Given the description of an element on the screen output the (x, y) to click on. 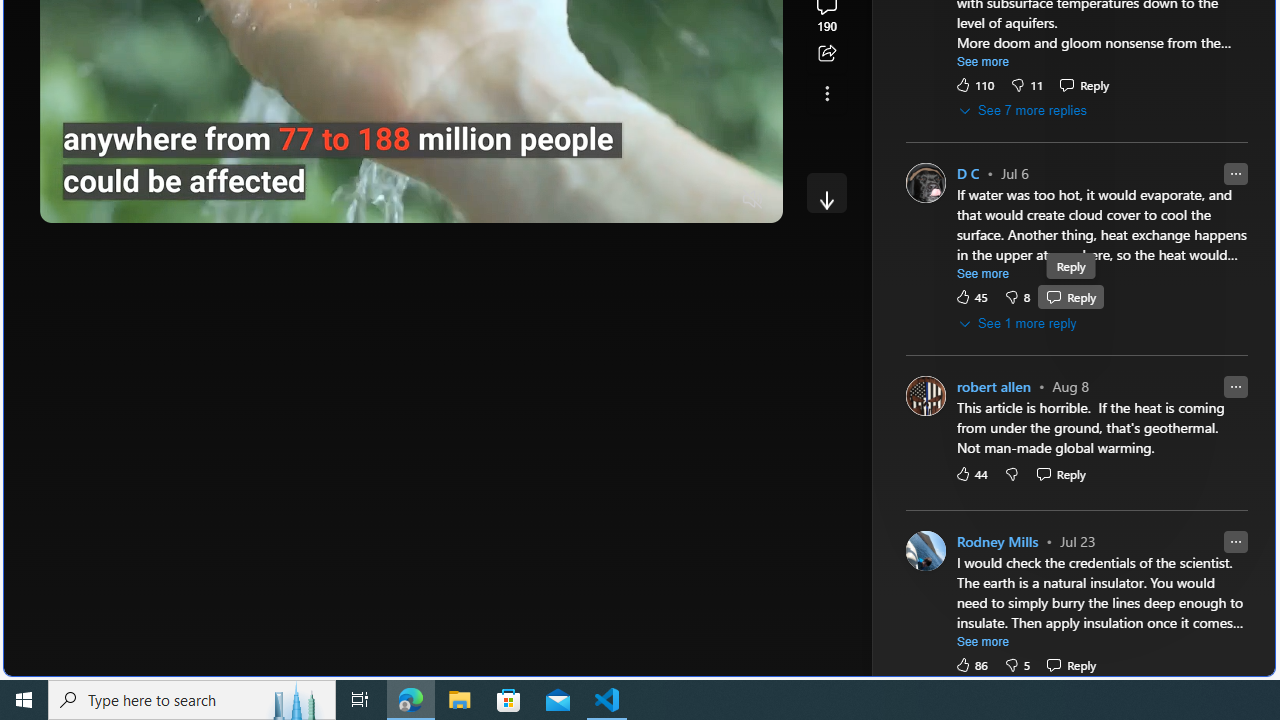
D C (968, 174)
Unmute (753, 200)
Pause (69, 200)
Reply Reply Comment (1071, 664)
Rodney Mills (997, 541)
ABC News (974, 12)
Quality Settings (634, 200)
Custom Personal Discounts (1084, 284)
See 7 more replies (1023, 111)
Custom Personal Discounts (1084, 186)
